Given the description of an element on the screen output the (x, y) to click on. 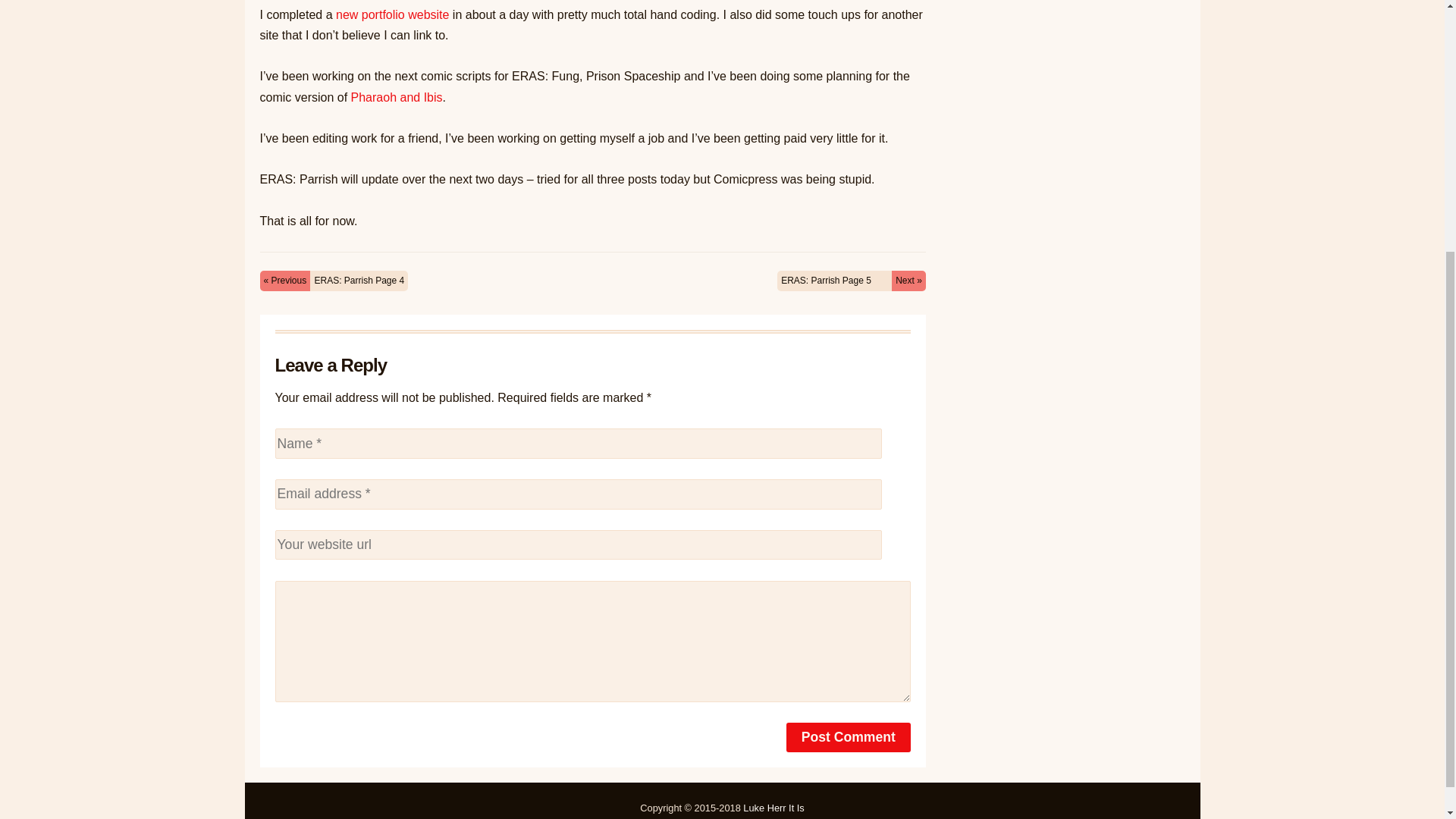
Post Comment (848, 737)
Post Comment (848, 737)
Luke Herr It Is (772, 808)
new portfolio website (391, 14)
Pharaoh and Ibis (396, 97)
